Given the description of an element on the screen output the (x, y) to click on. 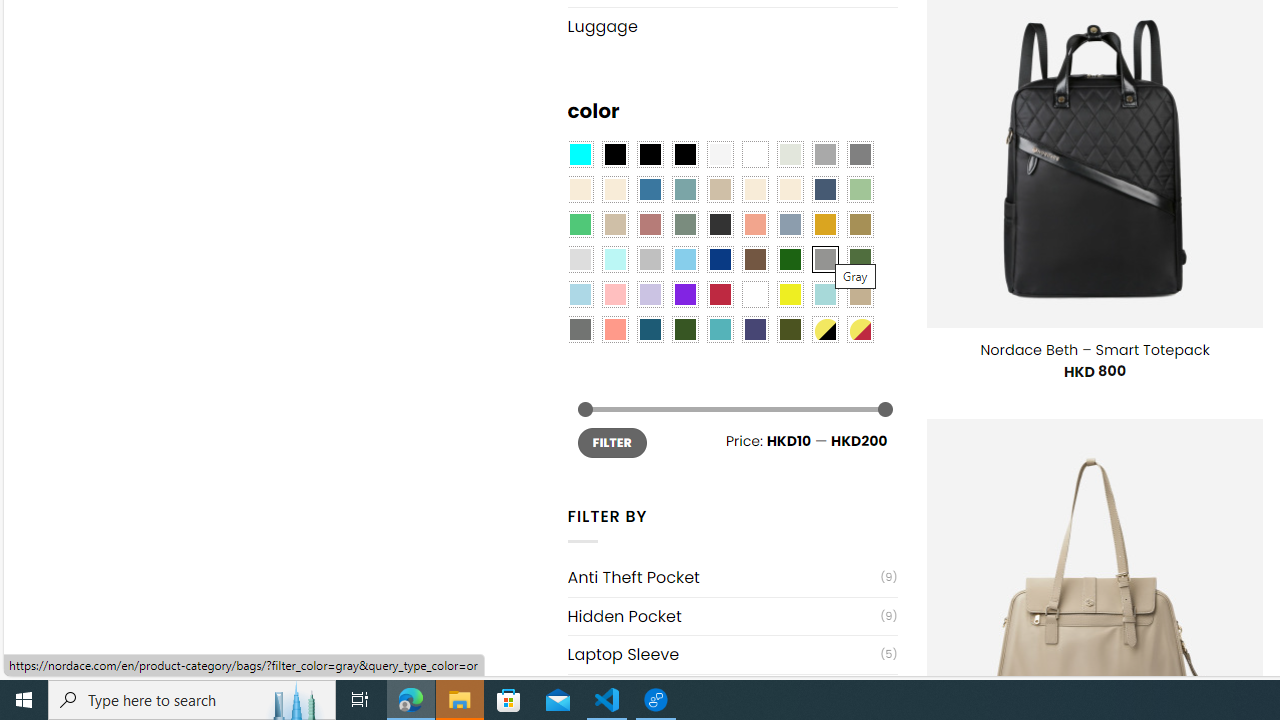
Sage (684, 224)
Laptop Sleeve (723, 654)
USB Charging Port(5) (732, 692)
Charcoal (719, 224)
Beige-Brown (614, 190)
Khaki (859, 295)
